Given the description of an element on the screen output the (x, y) to click on. 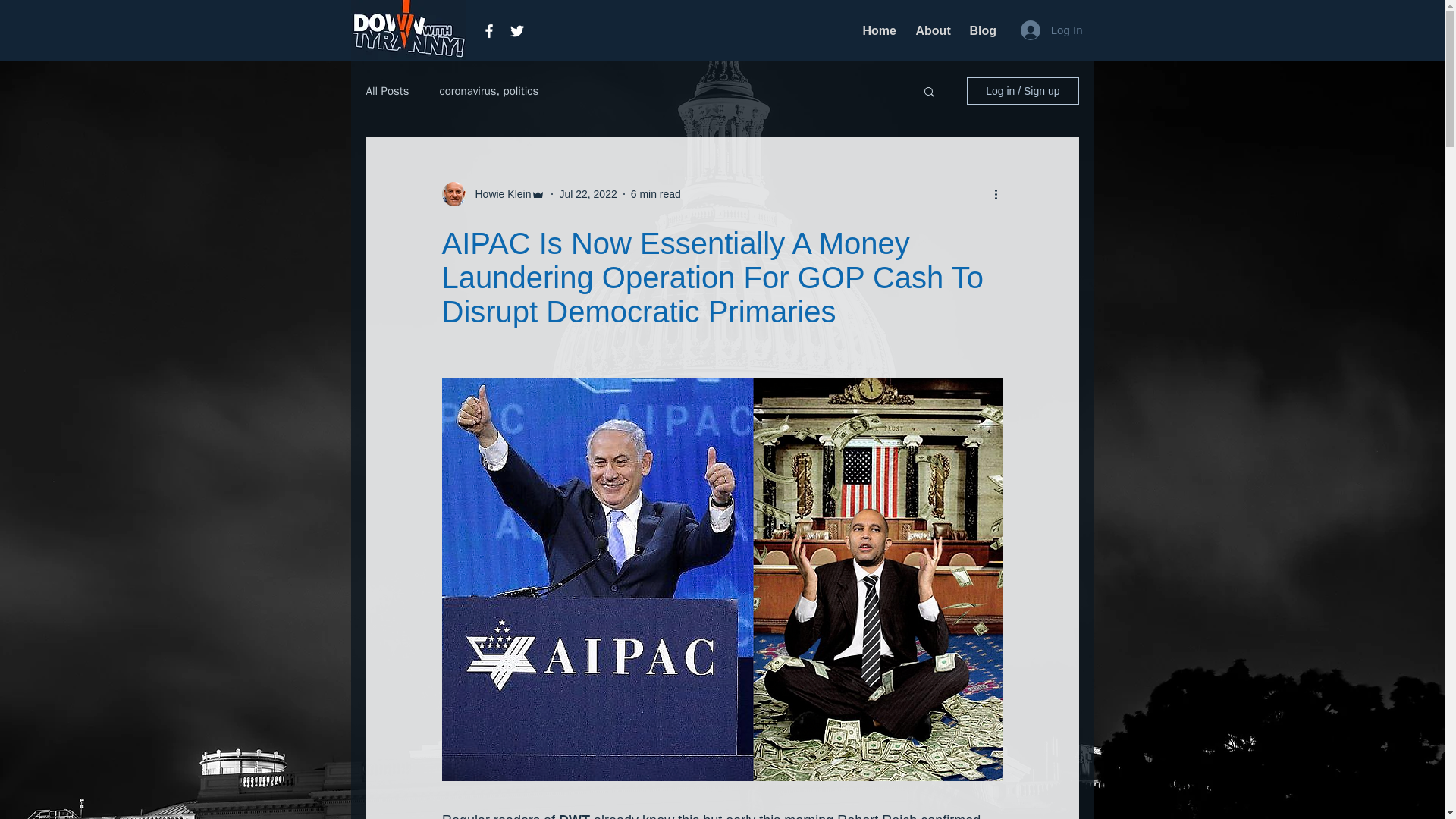
Jul 22, 2022 (587, 193)
About (931, 30)
Log In (1051, 29)
Blog (981, 30)
All Posts (387, 90)
coronavirus, politics (488, 90)
Howie Klein (492, 193)
Howie Klein (498, 194)
Home (877, 30)
6 min read (655, 193)
